Given the description of an element on the screen output the (x, y) to click on. 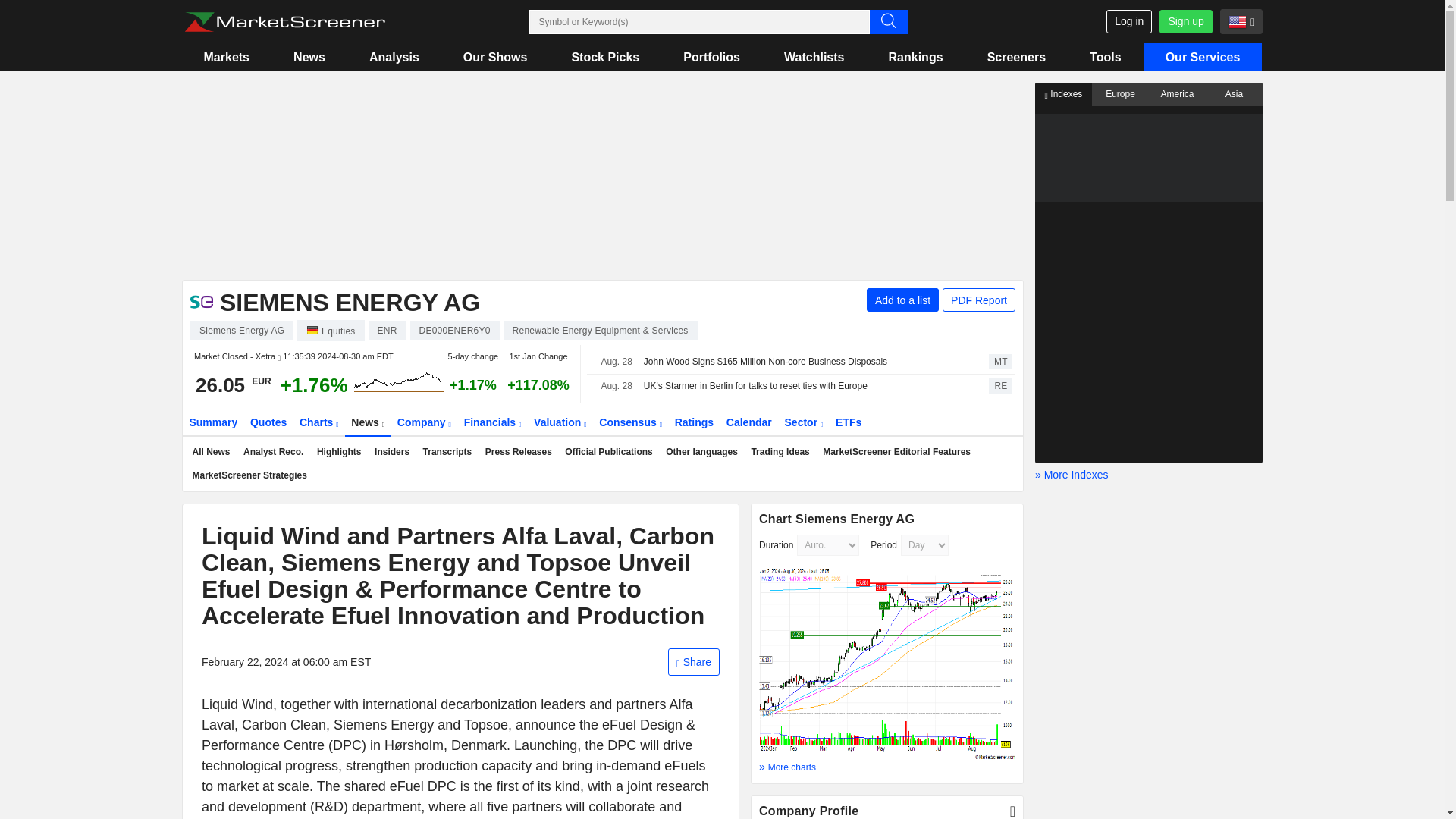
Advanced search (888, 21)
Markets (226, 57)
Sign up (1184, 21)
Marketscreener: stock market and financial news (284, 21)
Log in (1128, 21)
